Given the description of an element on the screen output the (x, y) to click on. 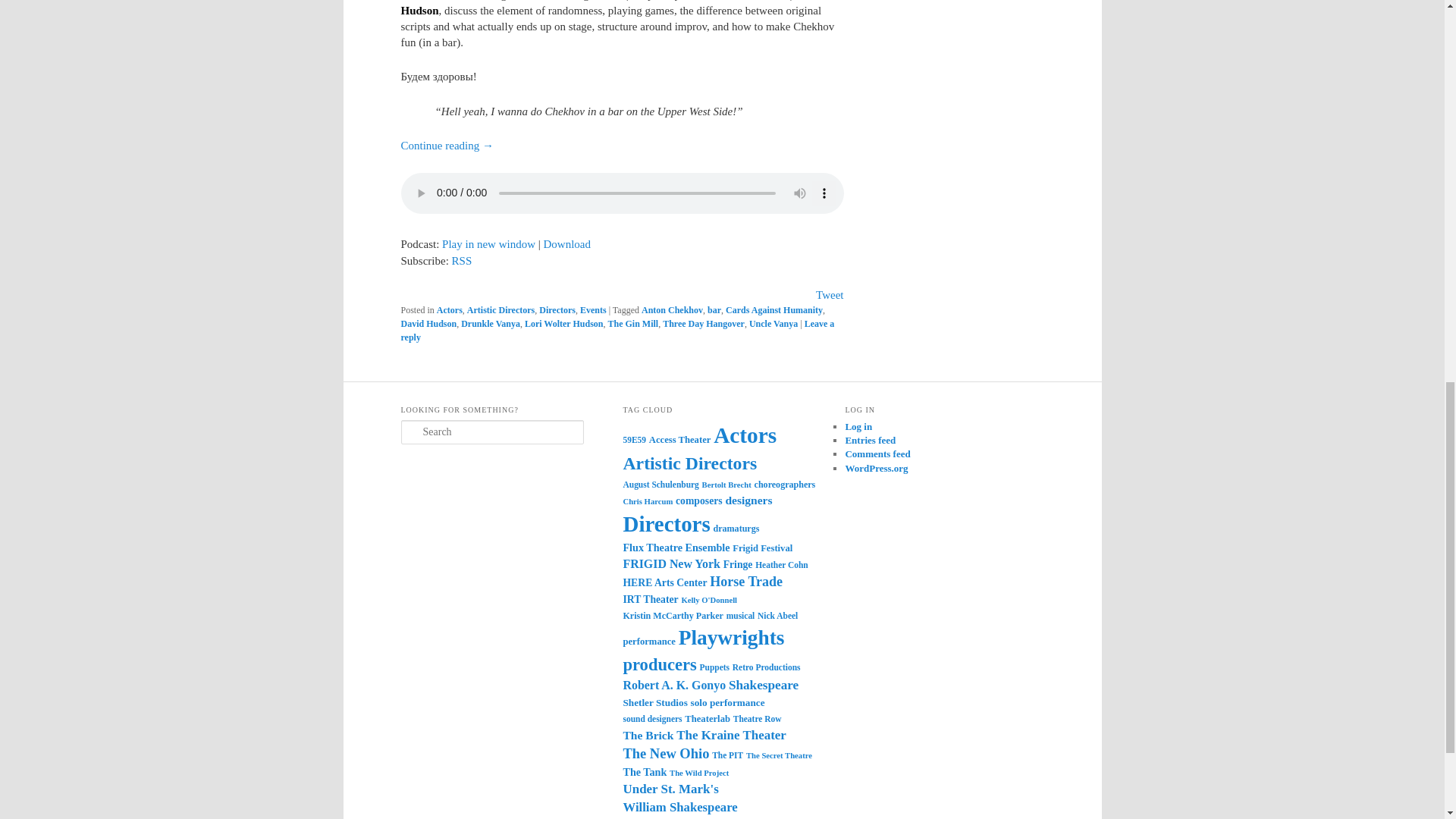
Play in new window (488, 244)
Drunkle Vanya (490, 323)
bar (713, 309)
David Hudson (428, 323)
RSS (461, 260)
Lori Wolter Hudson (564, 323)
Anton Chekhov (672, 309)
Events (593, 309)
Leave a reply (617, 330)
The Gin Mill (632, 323)
Tweet (829, 295)
Play in new window (488, 244)
Download (567, 244)
Subscribe via RSS (461, 260)
Actors (449, 309)
